Given the description of an element on the screen output the (x, y) to click on. 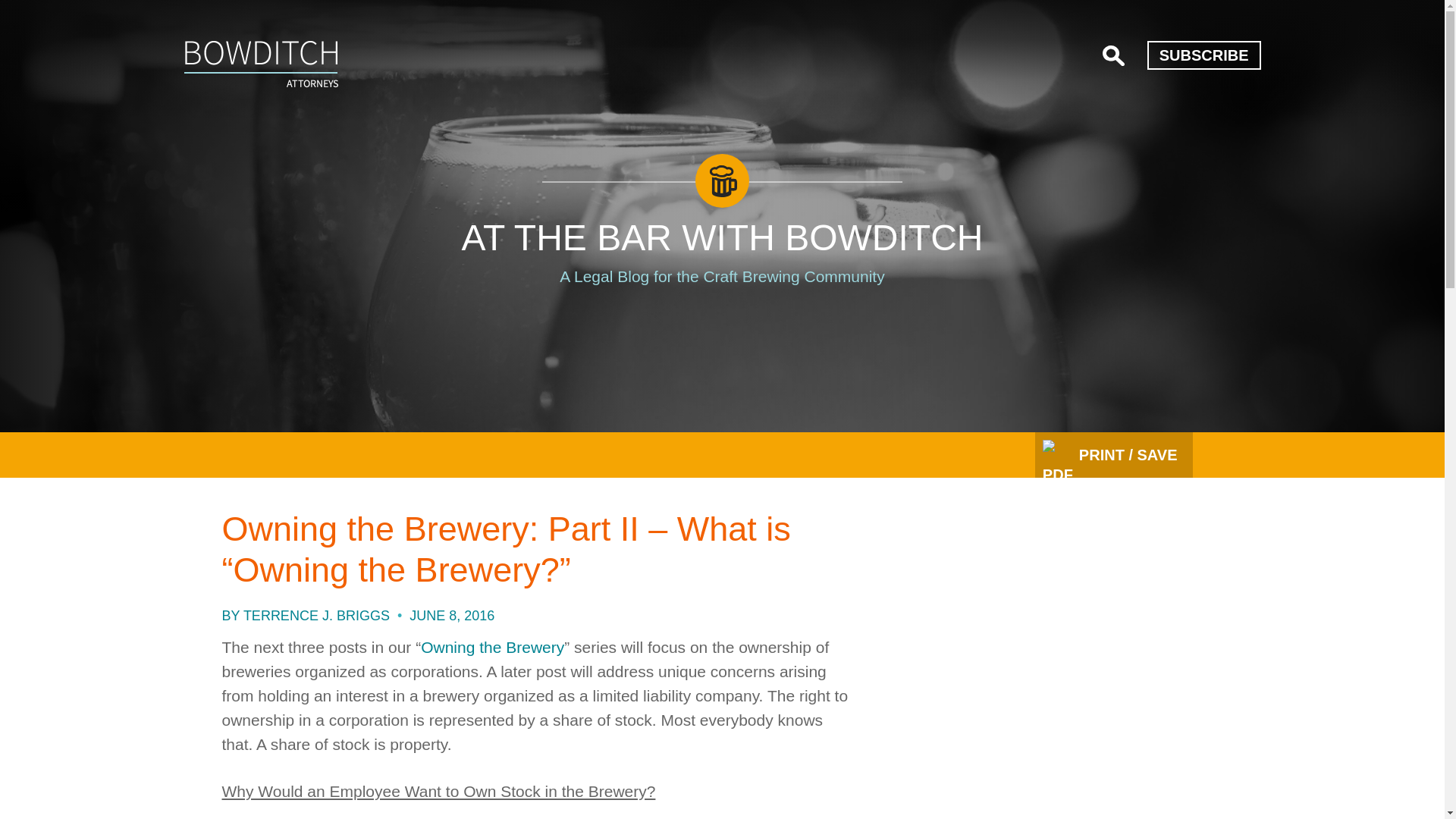
AT THE BAR WITH BOWDITCH (721, 237)
TERRENCE J. BRIGGS (316, 615)
SUBSCRIBE (1203, 54)
At the Bar With Bowditch (260, 63)
Owning the Brewery (492, 647)
Blog Logo (721, 327)
A Legal Blog for the Craft Brewing Community (721, 276)
Posts by Terrence J. Briggs (316, 615)
